Given the description of an element on the screen output the (x, y) to click on. 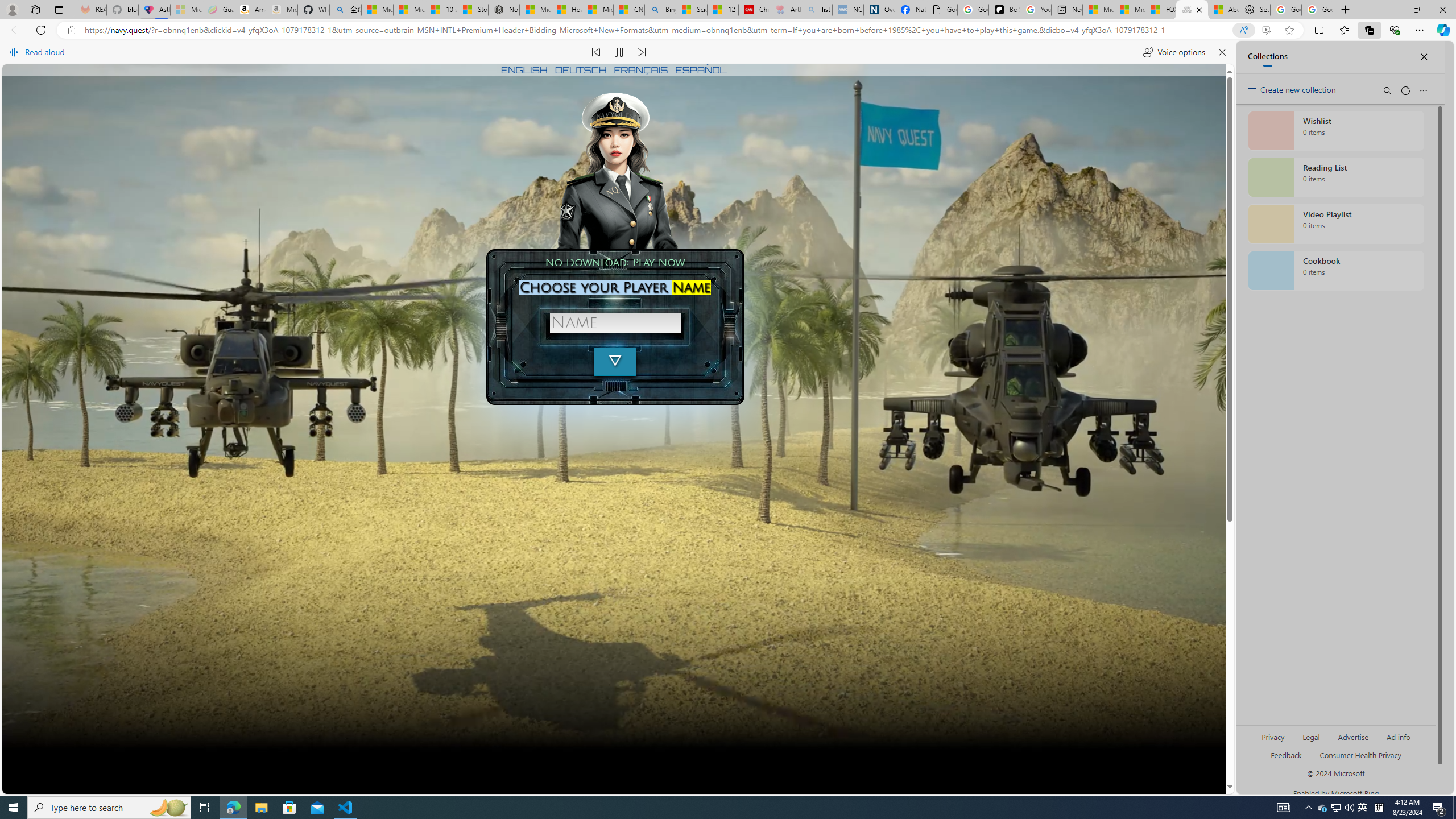
PRIVACY (539, 760)
AutomationID: sb_feedback (1286, 754)
Close read aloud (1221, 52)
Address and search bar (658, 29)
Enhance video (1266, 29)
Settings and more (Alt+F) (1419, 29)
Navy Quest Game (666, 760)
View site information (70, 29)
list of asthma inhalers uk - Search - Sleeping (816, 9)
Microsoft Start (1129, 9)
Science - MSN (691, 9)
Favorites (1344, 29)
Voice options (1174, 52)
Add this page to favorites (Ctrl+D) (1289, 29)
